Given the description of an element on the screen output the (x, y) to click on. 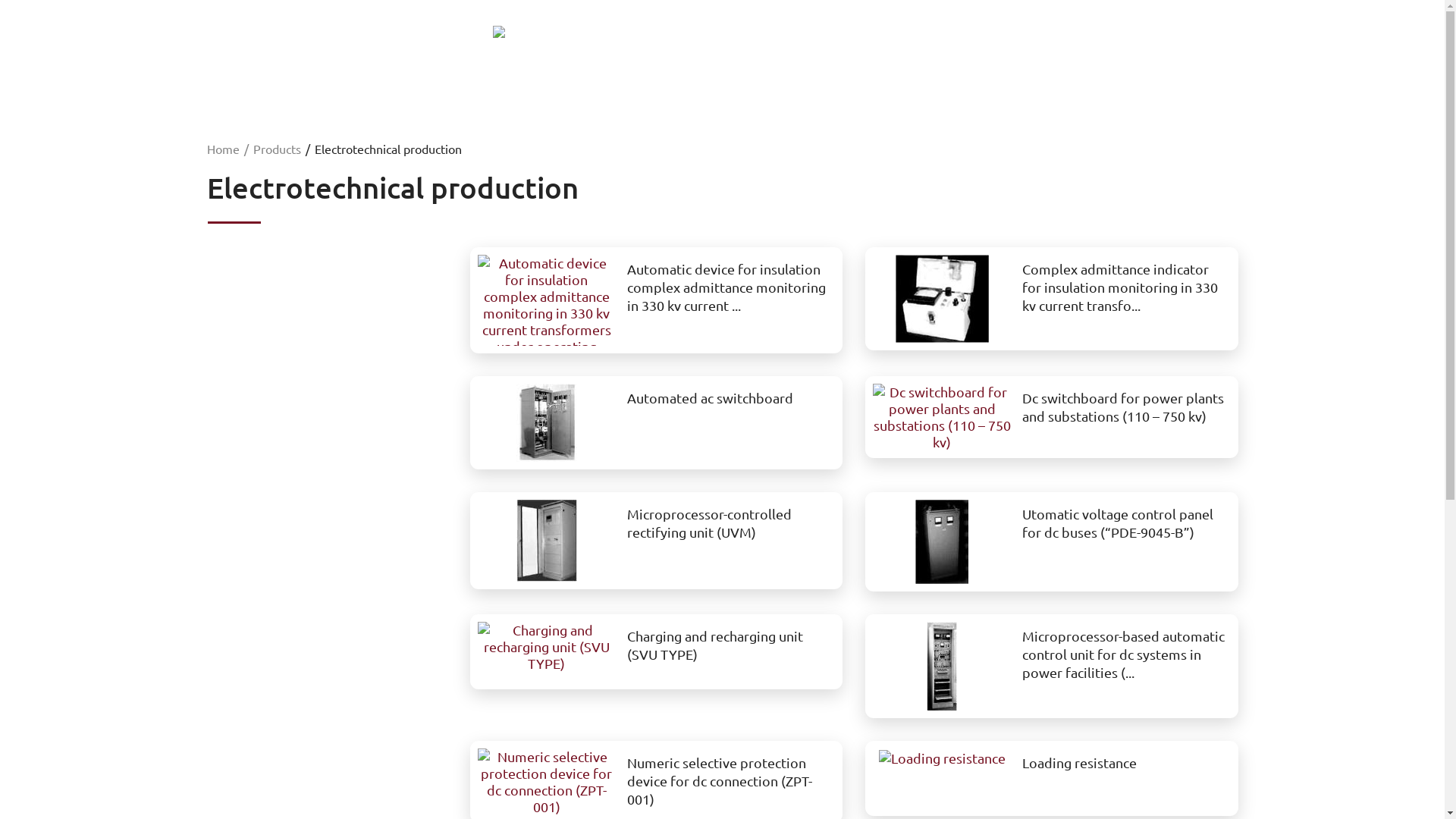
Loading resistance Element type: hover (941, 757)
Charging and recharging unit (SVU TYPE) Element type: text (715, 644)
Products Element type: text (277, 148)
Automated ac switchboard Element type: hover (546, 422)
Home Element type: text (222, 148)
Charging and recharging unit (SVU TYPE) Element type: hover (546, 646)
Menu Element type: text (94, 51)
Microprocessor-controlled rectifying unit (UVM) Element type: hover (546, 540)
Microprocessor-controlled rectifying unit (UVM) Element type: text (709, 522)
Loading resistance Element type: text (1079, 762)
Automated ac switchboard Element type: text (710, 397)
